Given the description of an element on the screen output the (x, y) to click on. 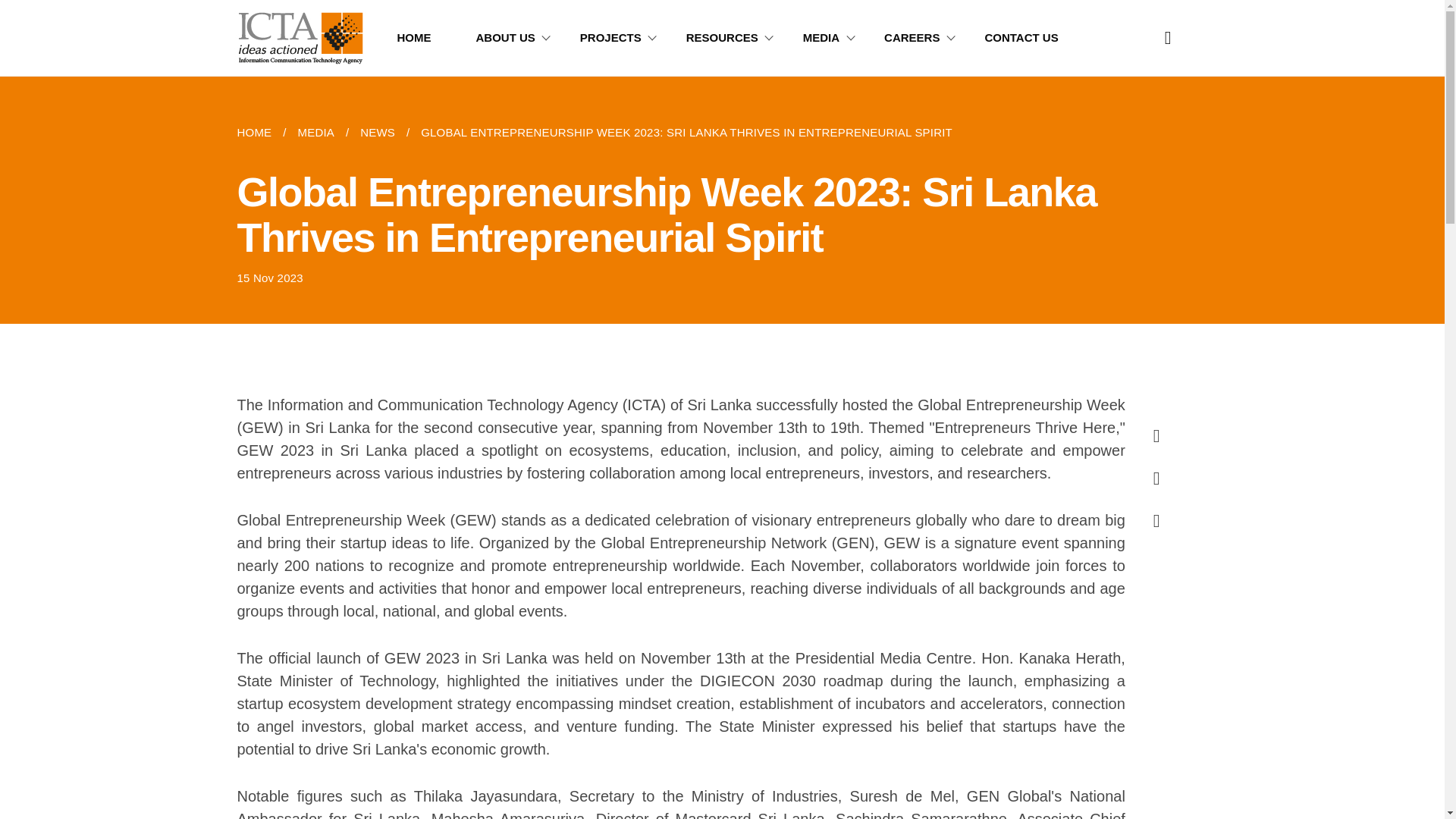
HOME (427, 37)
CAREERS (924, 38)
PROJECTS (623, 38)
RESOURCES (734, 38)
MEDIA (315, 132)
CONTACT US (1034, 37)
ABOUT US (519, 38)
Email (1151, 514)
HOME (258, 132)
